Given the description of an element on the screen output the (x, y) to click on. 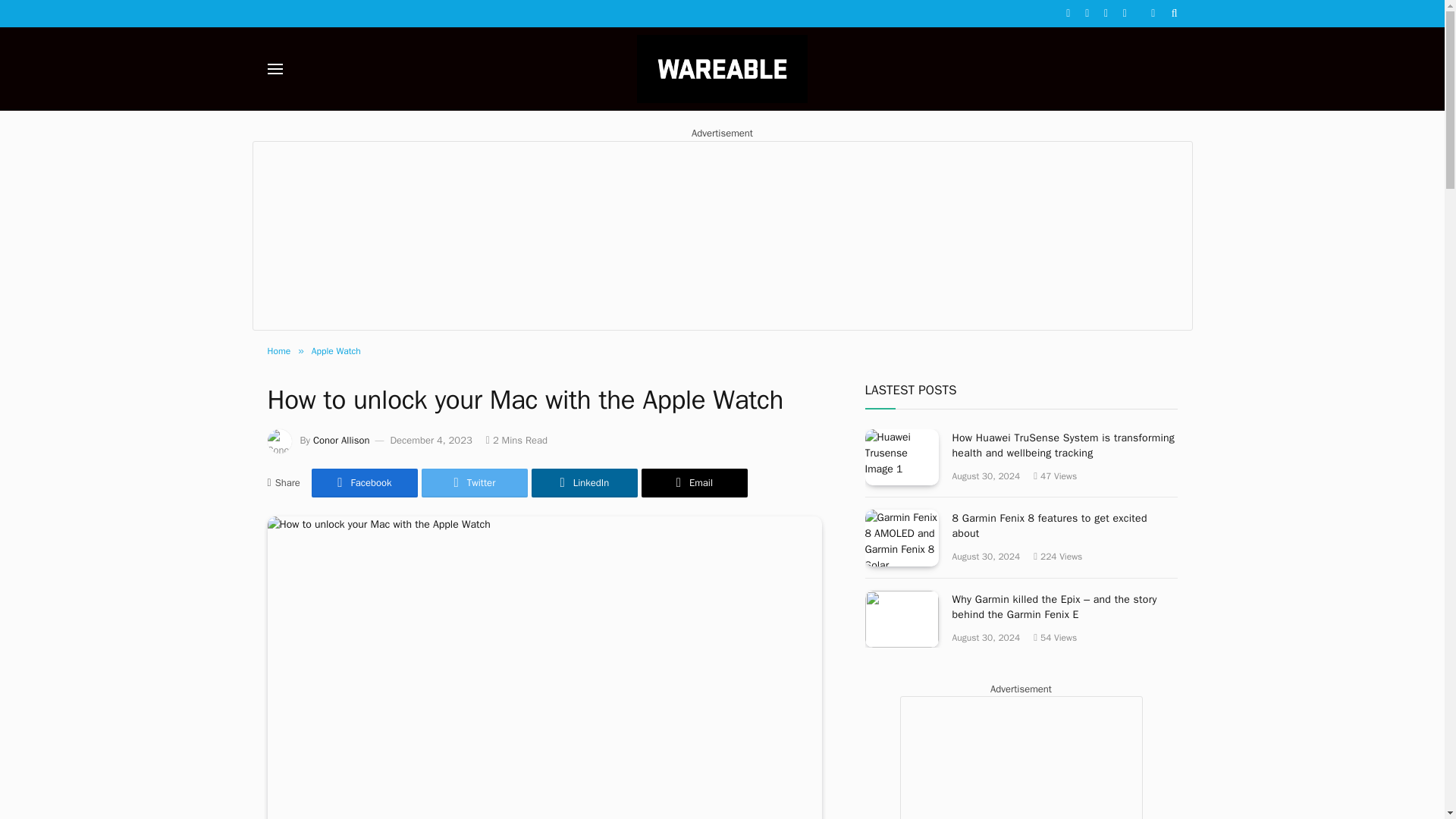
Switch to Dark Design - easier on eyes. (1152, 13)
Wareable (722, 68)
Posts by Conor Allison (341, 440)
LinkedIn (584, 482)
Twitter (474, 482)
Facebook (364, 482)
Conor Allison (341, 440)
Share on Facebook (364, 482)
Apple Watch (336, 350)
